Given the description of an element on the screen output the (x, y) to click on. 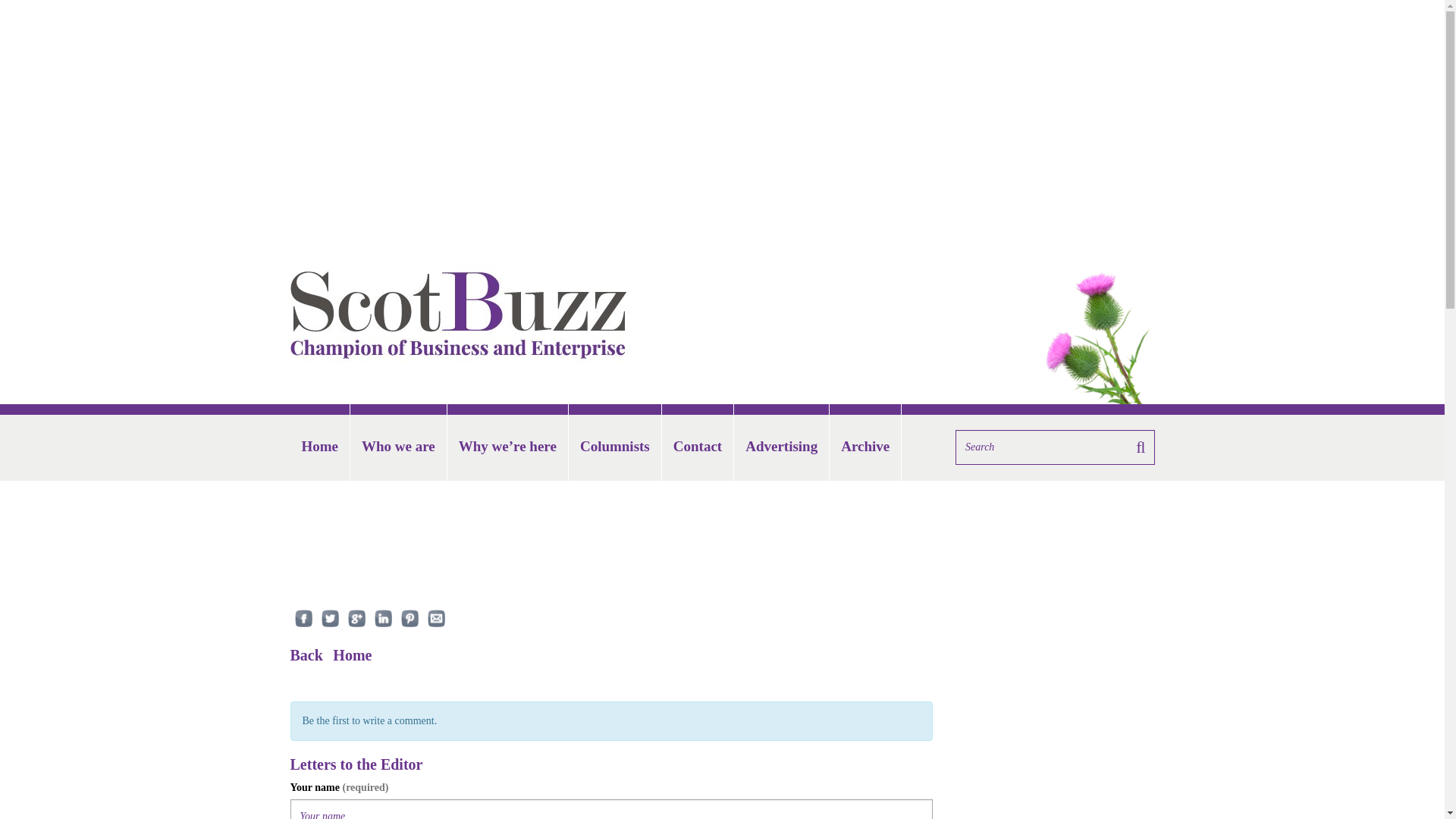
Back (305, 655)
Advertising (780, 447)
Archive (865, 447)
Pinterest (409, 618)
Who we are (398, 447)
Home (352, 655)
Facebook (302, 618)
Twitter (330, 618)
Contact (697, 447)
Email (436, 618)
LinkedIn (382, 618)
Home (319, 447)
Columnists (615, 447)
